Given the description of an element on the screen output the (x, y) to click on. 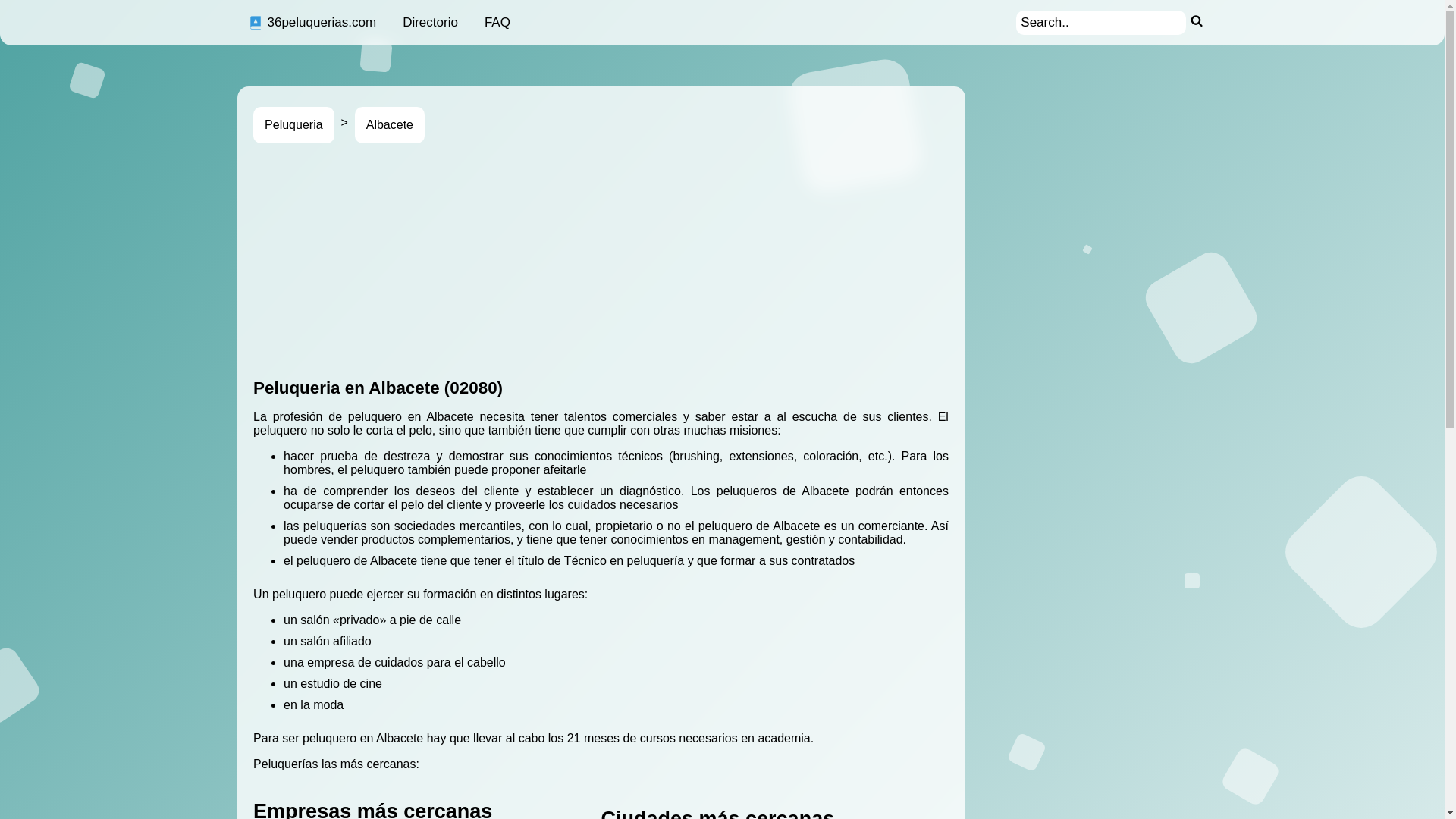
Directorio Element type: text (430, 22)
36peluquerias.com Element type: text (311, 22)
FAQ Element type: text (497, 22)
Advertisement Element type: hover (708, 260)
Albacete Element type: text (389, 124)
Peluqueria Element type: text (293, 124)
